Given the description of an element on the screen output the (x, y) to click on. 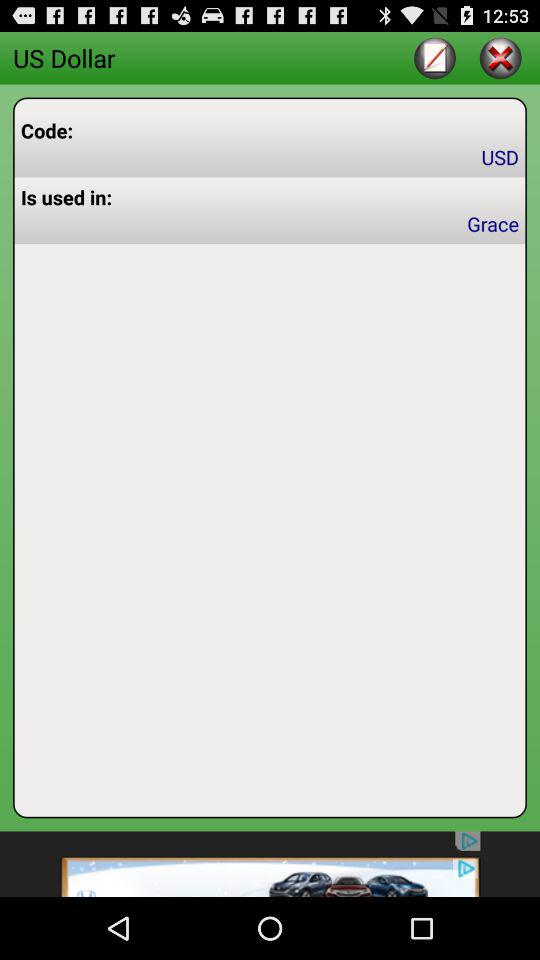
add expense (434, 57)
